Given the description of an element on the screen output the (x, y) to click on. 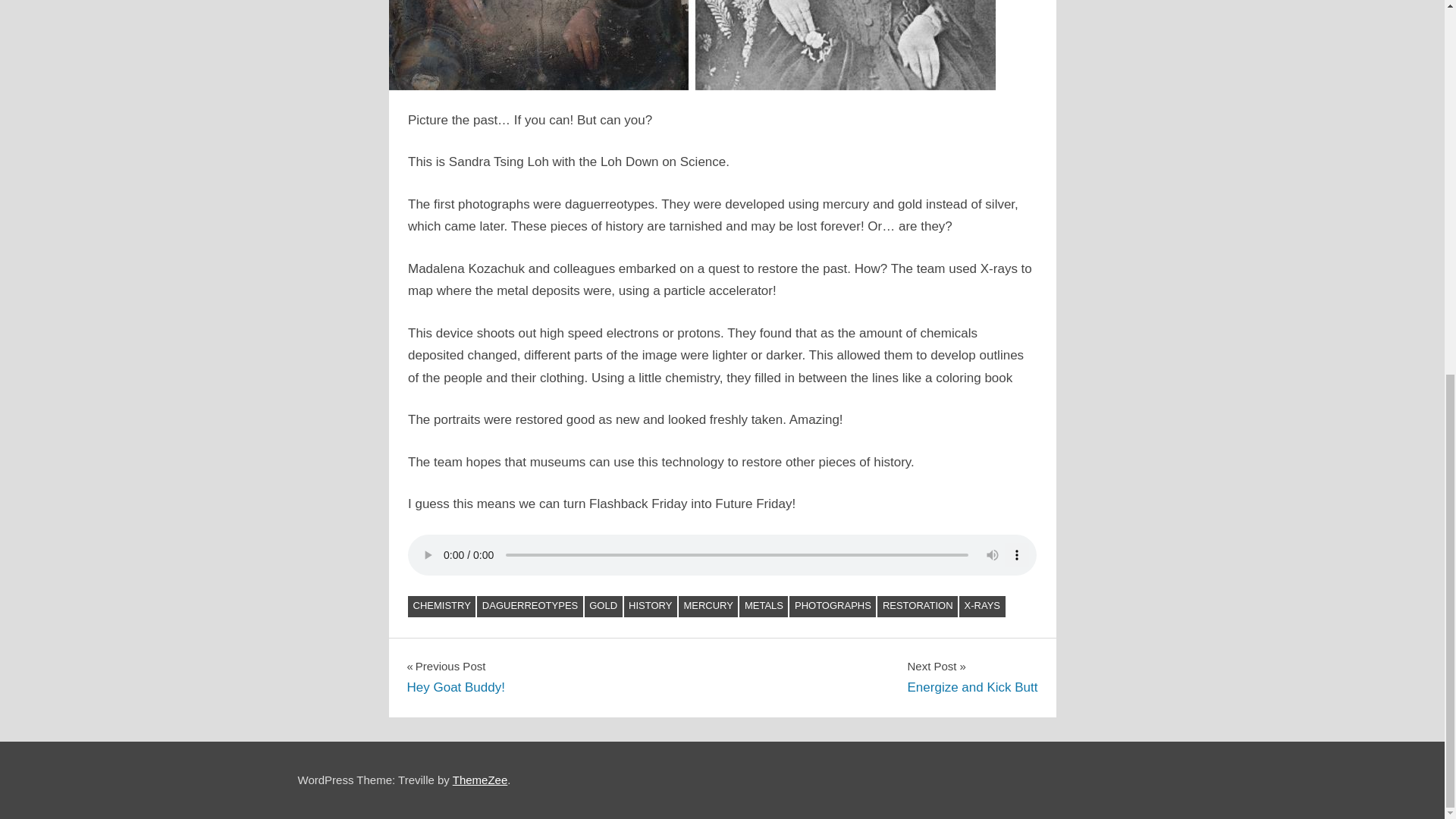
RESTORATION (917, 606)
X-RAYS (981, 606)
PHOTOGRAPHS (832, 606)
GOLD (604, 606)
ThemeZee (480, 779)
METALS (763, 606)
EPISODES (443, 630)
HISTORY (650, 606)
CHEMISTRY (441, 606)
